Given the description of an element on the screen output the (x, y) to click on. 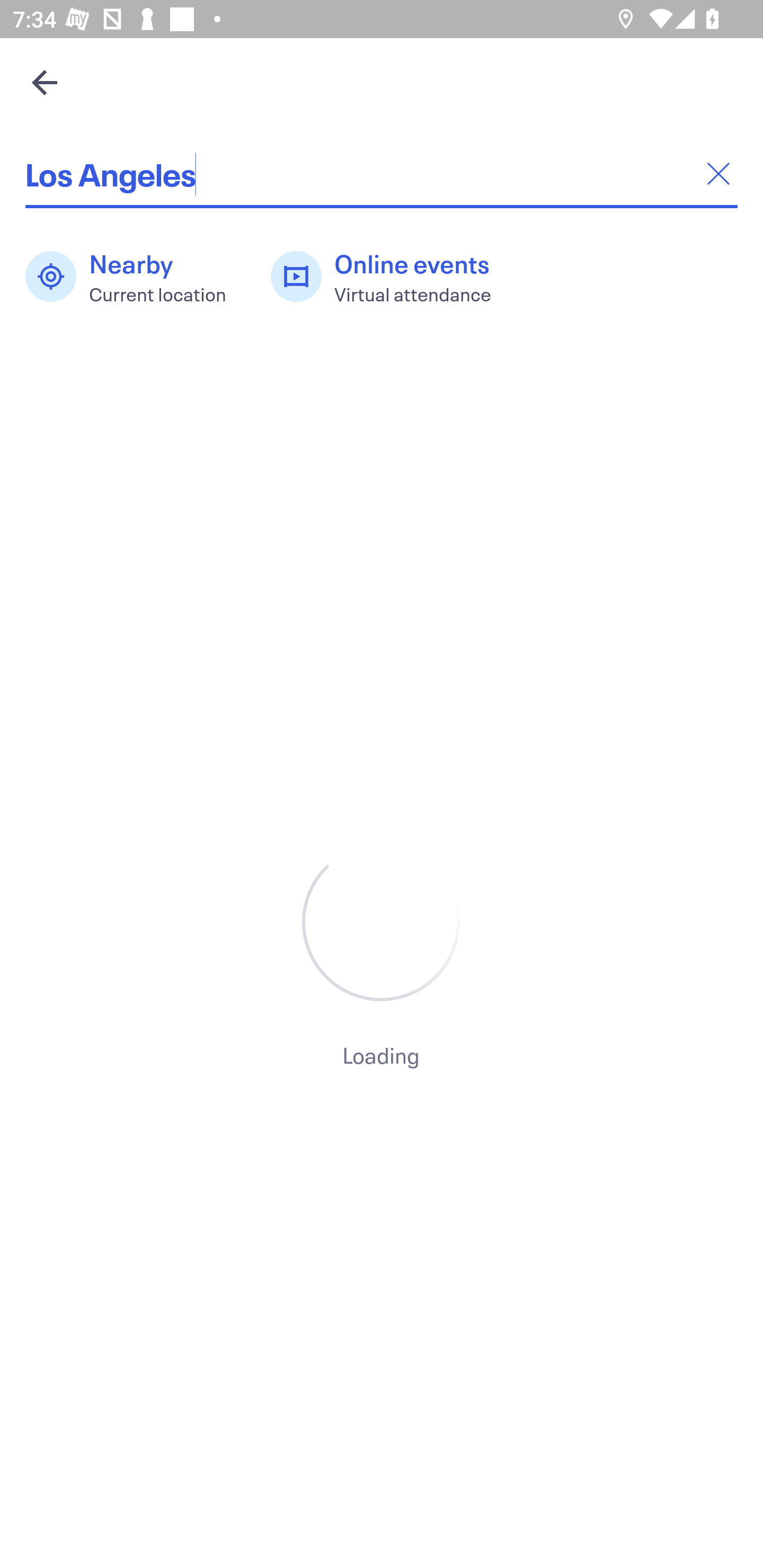
Navigate up (44, 82)
Los Angeles (381, 173)
Nearby Current location (135, 276)
Online events Virtual attendance (390, 276)
